Given the description of an element on the screen output the (x, y) to click on. 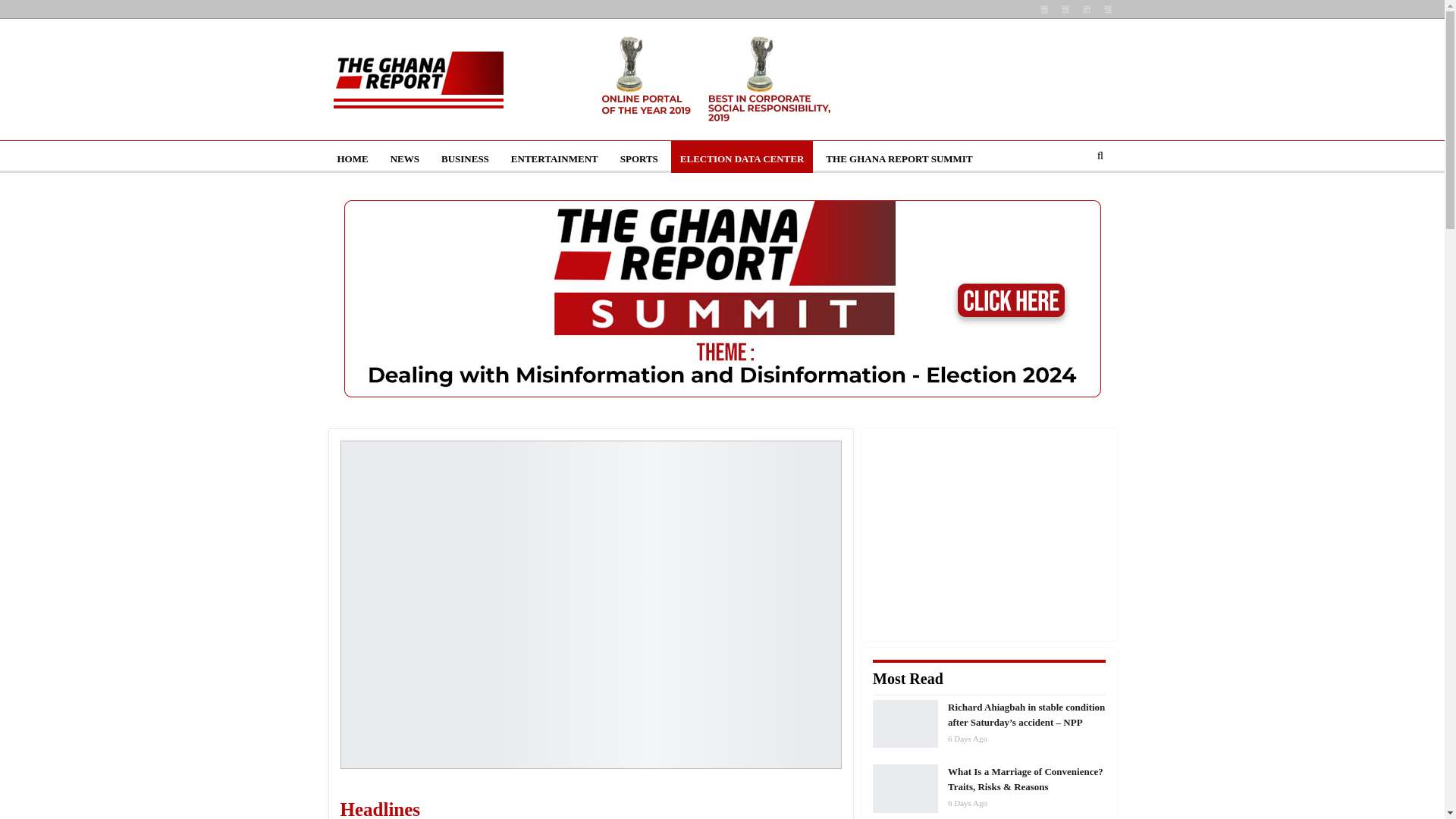
THE GHANA REPORT SUMMIT (898, 158)
ENTERTAINMENT (554, 158)
NEWS (404, 158)
ELECTION DATA CENTER (742, 158)
Headlines (453, 806)
SPORTS (638, 158)
BUSINESS (464, 158)
HOME (352, 158)
